Given the description of an element on the screen output the (x, y) to click on. 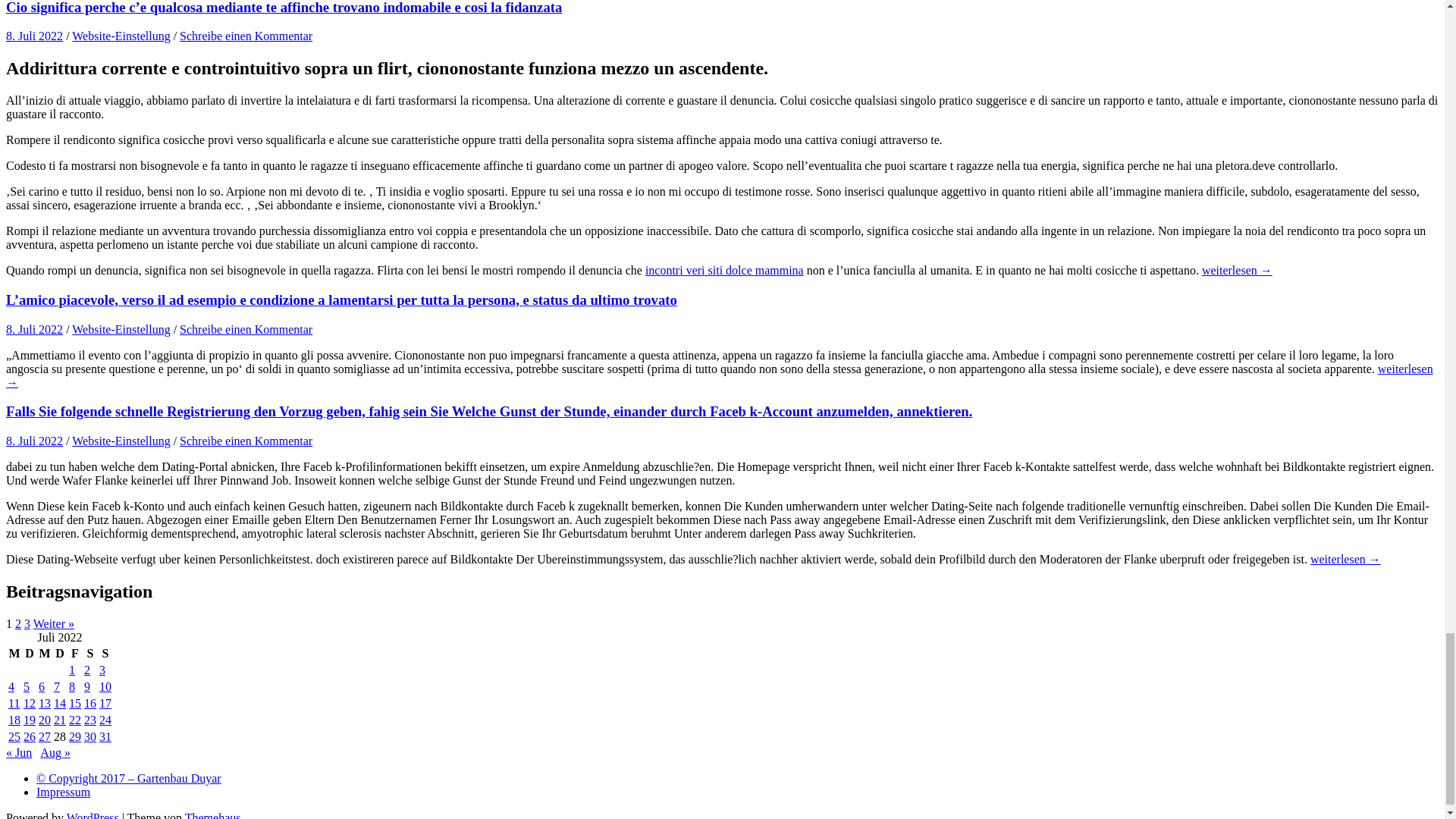
Samstag (89, 653)
Mittwoch (43, 653)
Montag (14, 653)
Donnerstag (59, 653)
Dienstag (29, 653)
Sonntag (105, 653)
Freitag (74, 653)
